Given the description of an element on the screen output the (x, y) to click on. 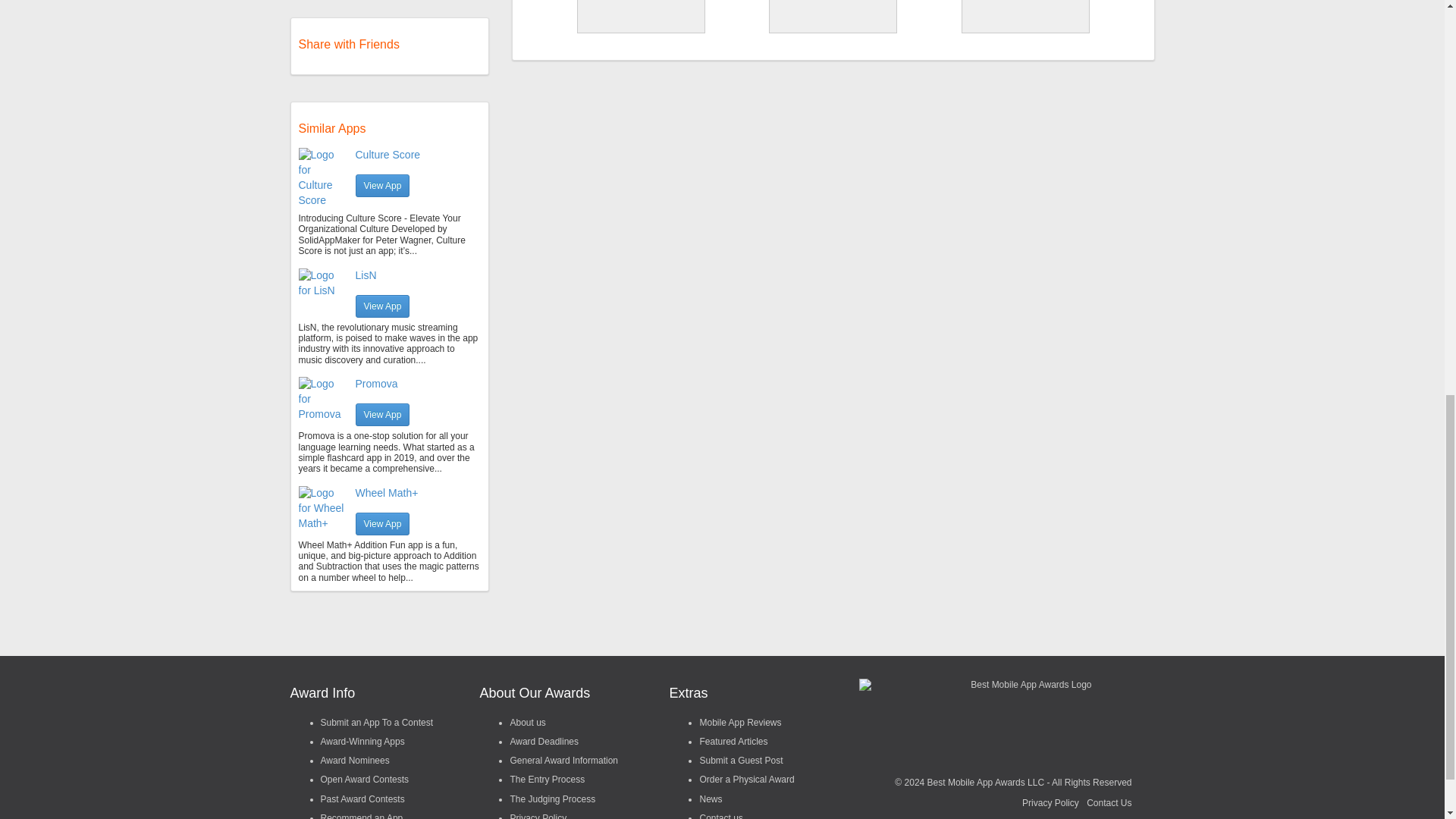
Culture Score (387, 154)
Submit an App To a Contest (376, 722)
Rosetta Stone mobile screenshot 1 (641, 15)
View App (382, 414)
Promova (376, 383)
Rosetta Stone mobile screenshot 2 (833, 15)
LisN (365, 275)
View App (382, 305)
View App (382, 523)
View App (382, 185)
